Given the description of an element on the screen output the (x, y) to click on. 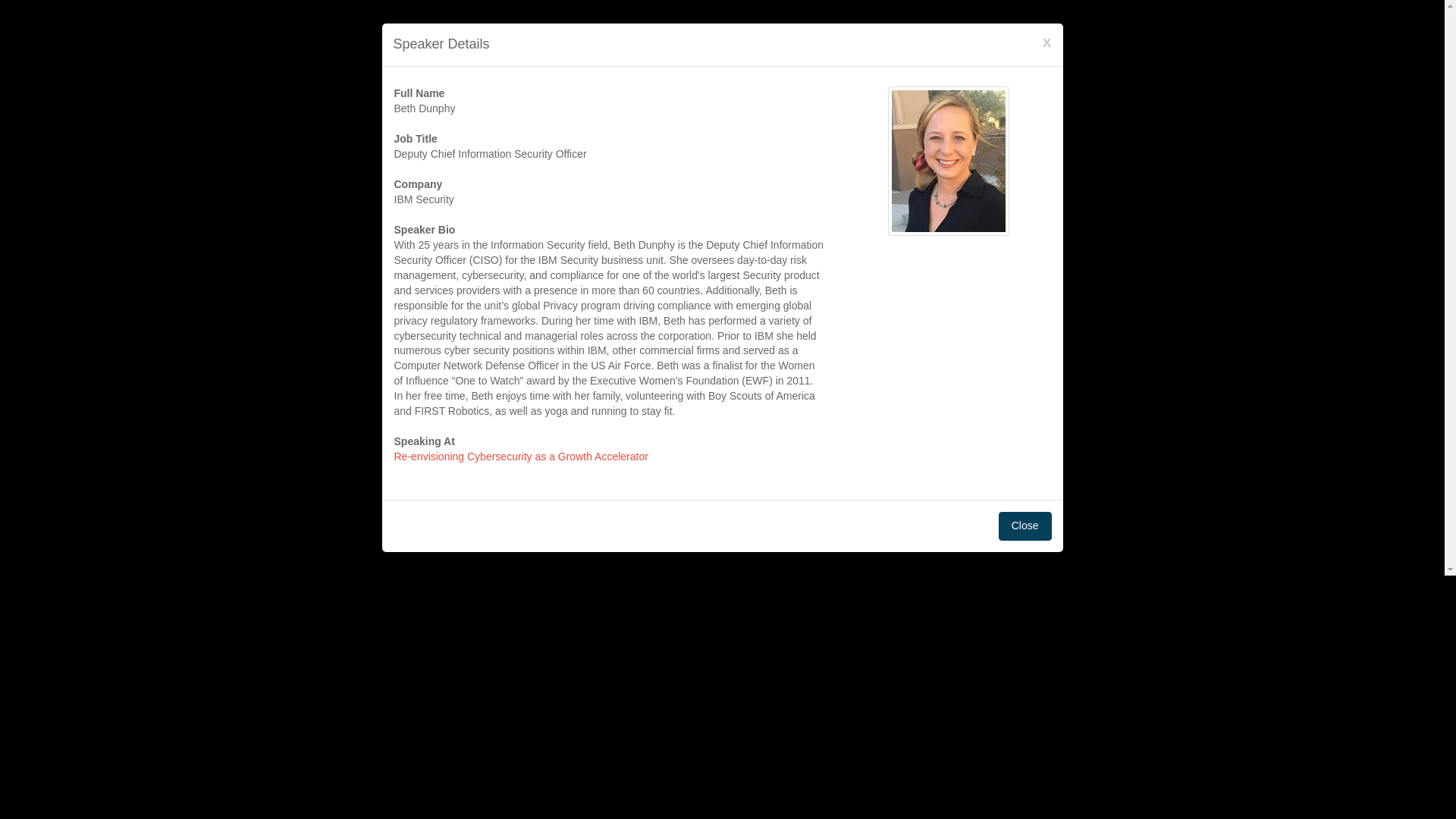
x (1046, 41)
Close (1024, 525)
Session Details (520, 456)
Re-envisioning Cybersecurity as a Growth Accelerator (520, 456)
